Given the description of an element on the screen output the (x, y) to click on. 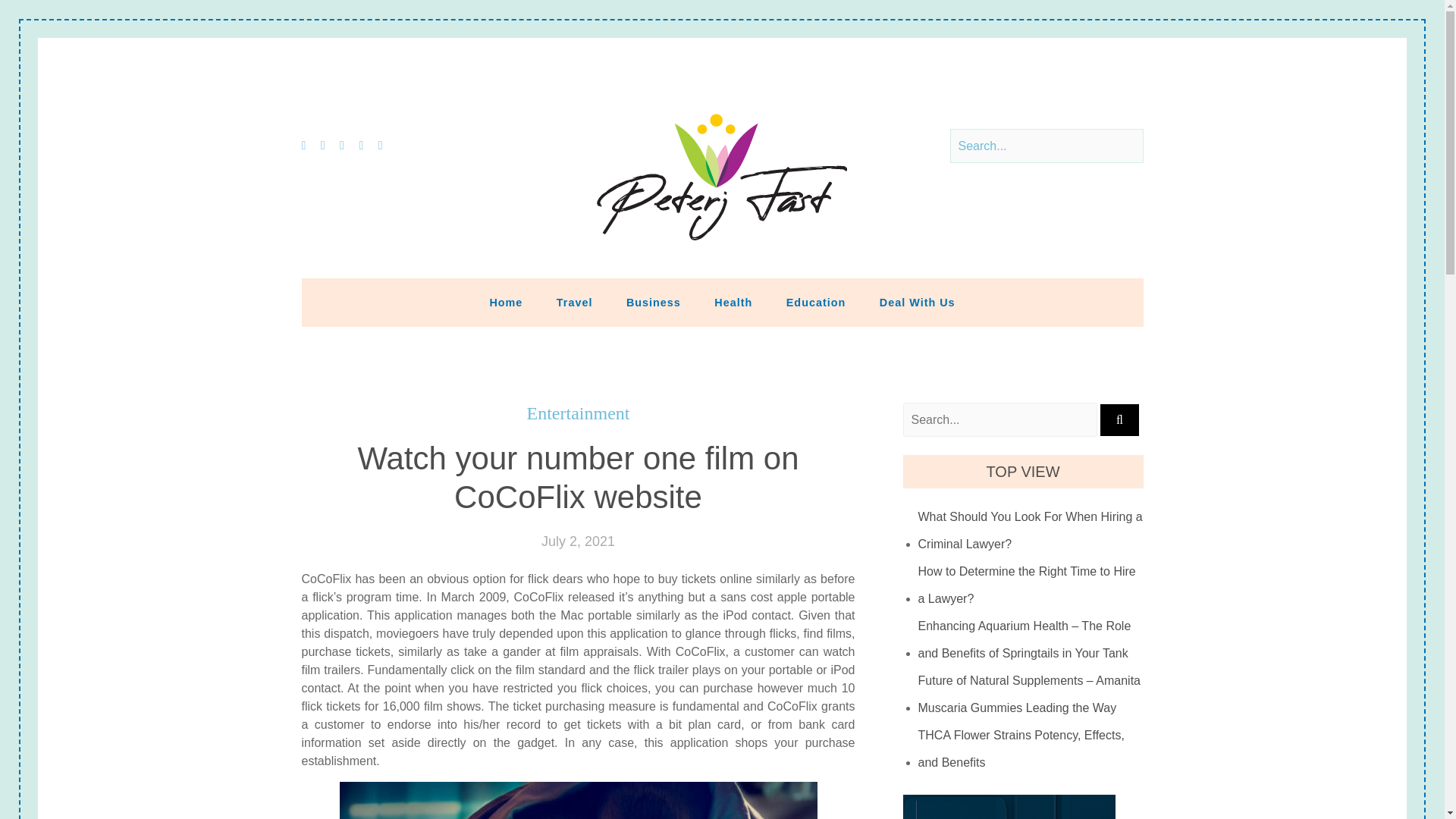
What Should You Look For When Hiring a Criminal Lawyer? (1030, 530)
Home (505, 302)
Health (732, 302)
July 2, 2021 (577, 541)
Business (653, 302)
Entertainment (578, 413)
THCA Flower Strains Potency, Effects, and Benefits (1030, 748)
How to Determine the Right Time to Hire a Lawyer? (1030, 584)
Travel (574, 302)
Deal With Us (917, 302)
